Given the description of an element on the screen output the (x, y) to click on. 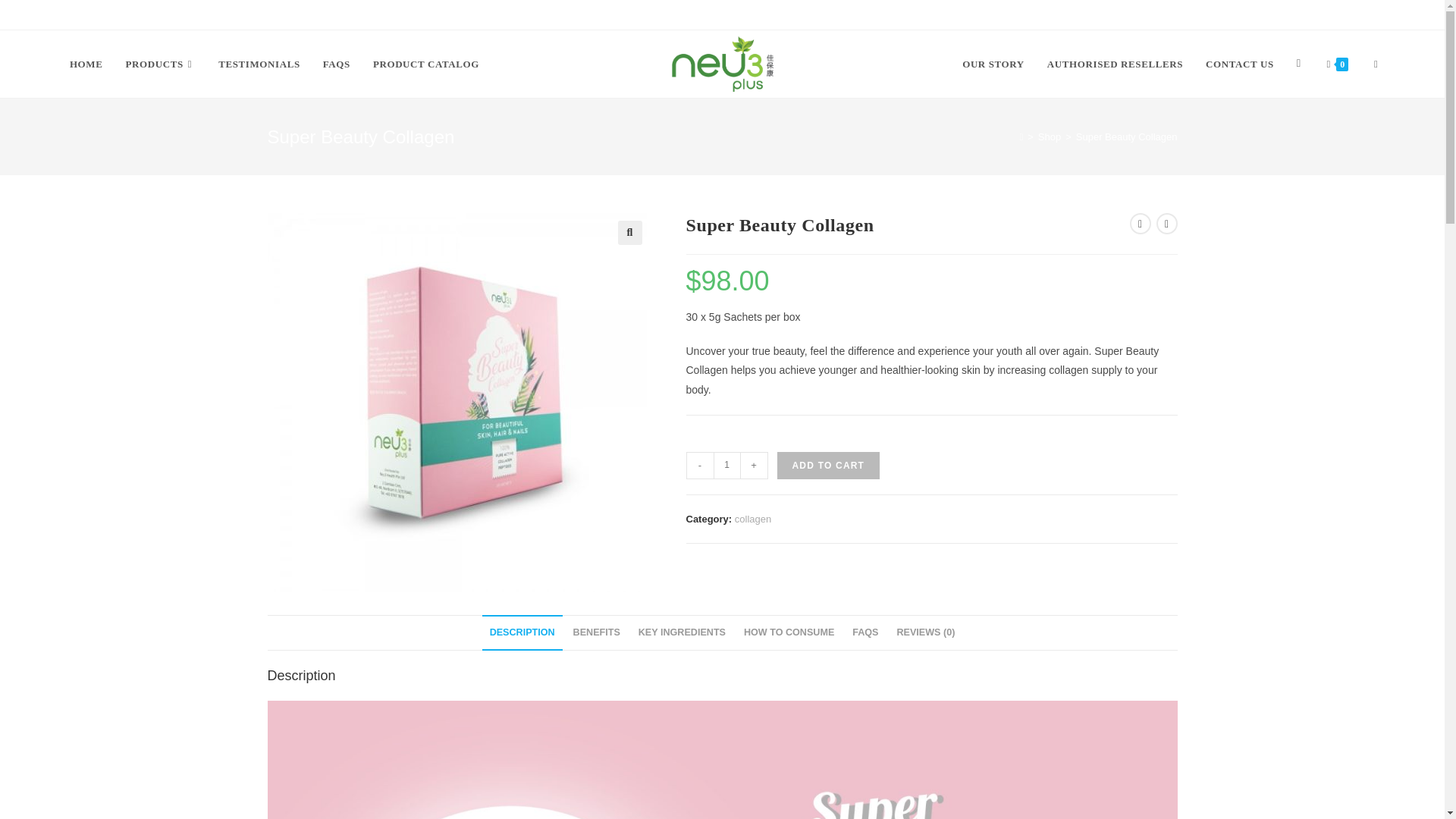
HOME (86, 64)
TESTIMONIALS (258, 64)
AUTHORISED RESELLERS (1114, 64)
OUR STORY (992, 64)
1 (726, 465)
CONTACT US (1239, 64)
FAQS (336, 64)
PRODUCTS (159, 64)
PRODUCT CATALOG (425, 64)
Qty (726, 465)
